Given the description of an element on the screen output the (x, y) to click on. 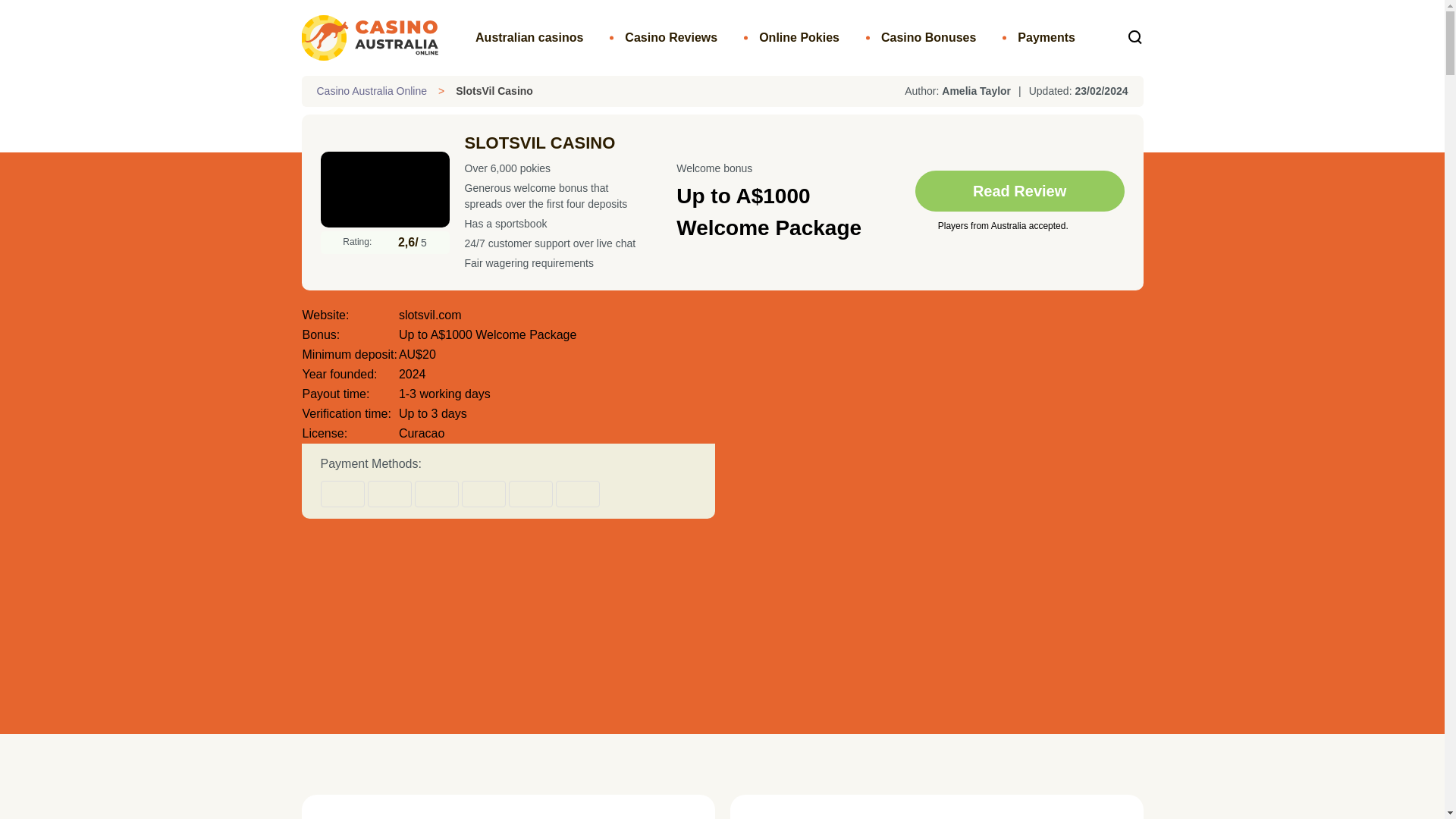
Payments (1046, 37)
Online Pokies (799, 37)
Casino Reviews (670, 37)
Casino Bonuses (927, 37)
Australian casinos (529, 37)
Go to Casino Australia Online. (372, 91)
